Given the description of an element on the screen output the (x, y) to click on. 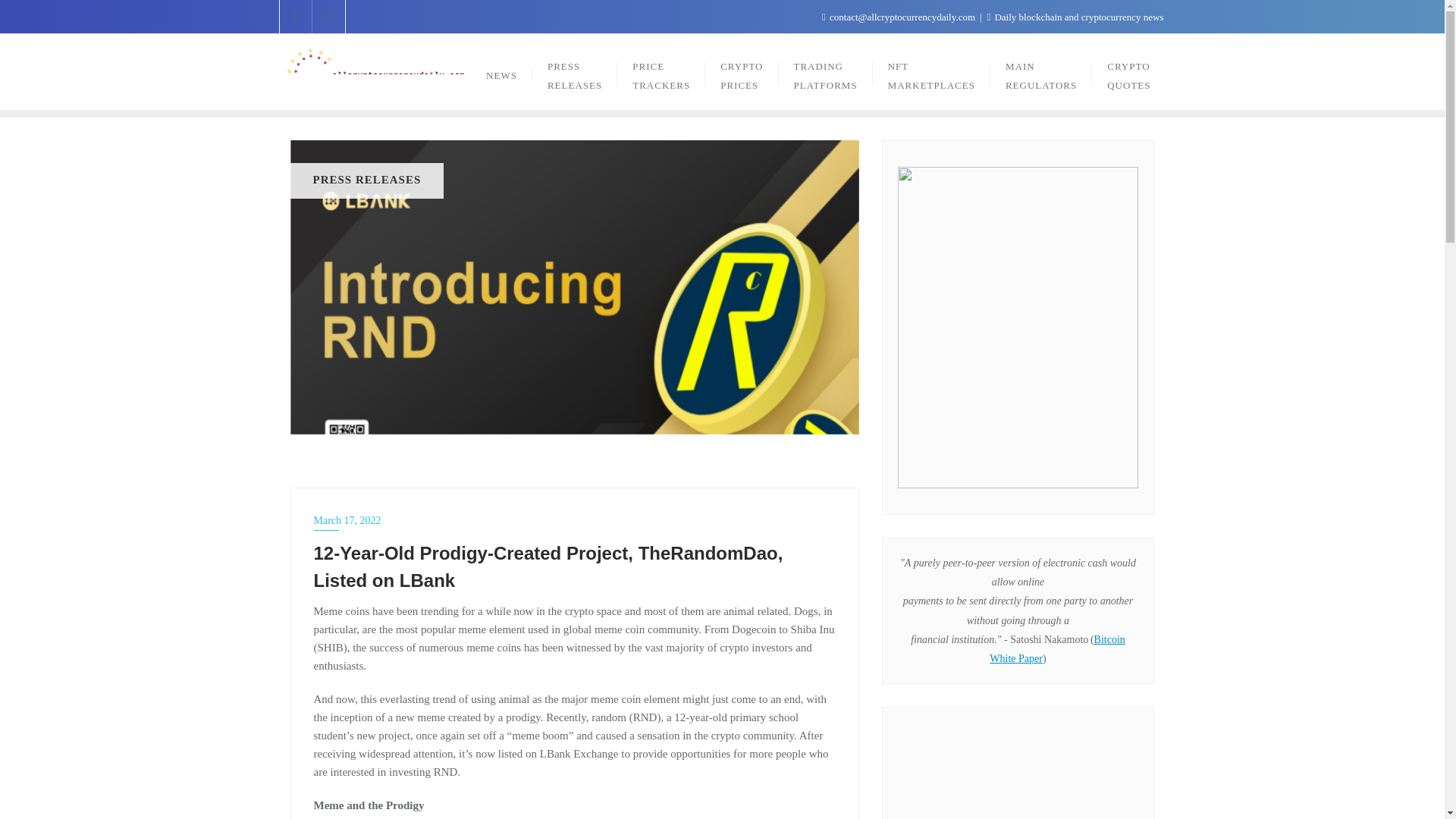
March 17, 2022 (574, 520)
TRADING PLATFORMS (824, 71)
MAIN REGULATORS (1041, 71)
PRICE TRACKERS (660, 71)
Bitcoin explained and made simple (1018, 770)
CRYPTO PRICES (740, 71)
NEWS (501, 71)
PRESS RELEASES (574, 71)
Bitcoin White Paper (1057, 648)
NFT MARKETPLACES (931, 71)
CRYPTO QUOTES (1129, 71)
